Given the description of an element on the screen output the (x, y) to click on. 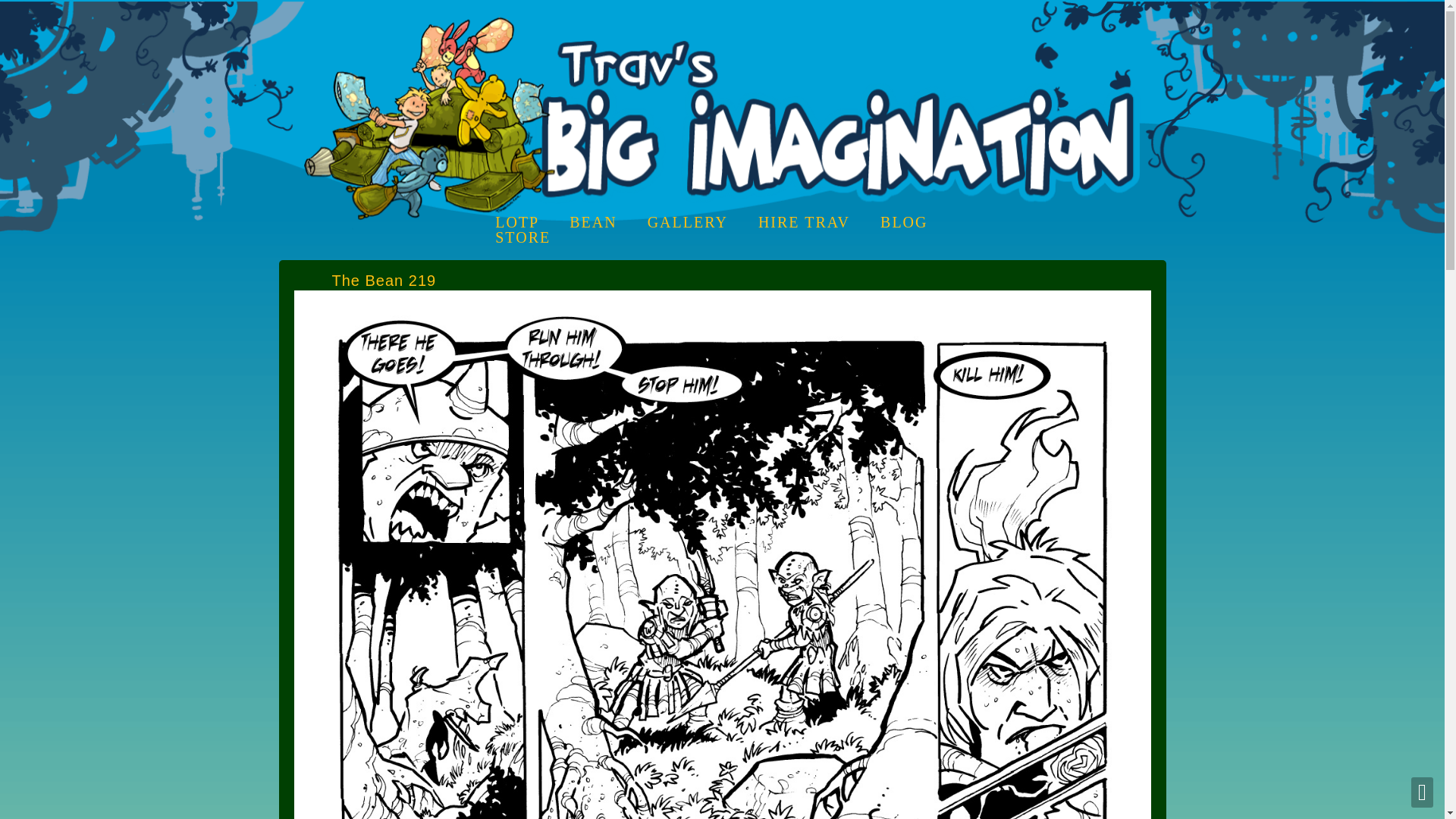
GALLERY (687, 221)
STORE (522, 236)
BLOG (903, 221)
HIRE TRAV (804, 221)
BEAN (592, 221)
The Bean 219 (722, 297)
LOTP (516, 221)
